Given the description of an element on the screen output the (x, y) to click on. 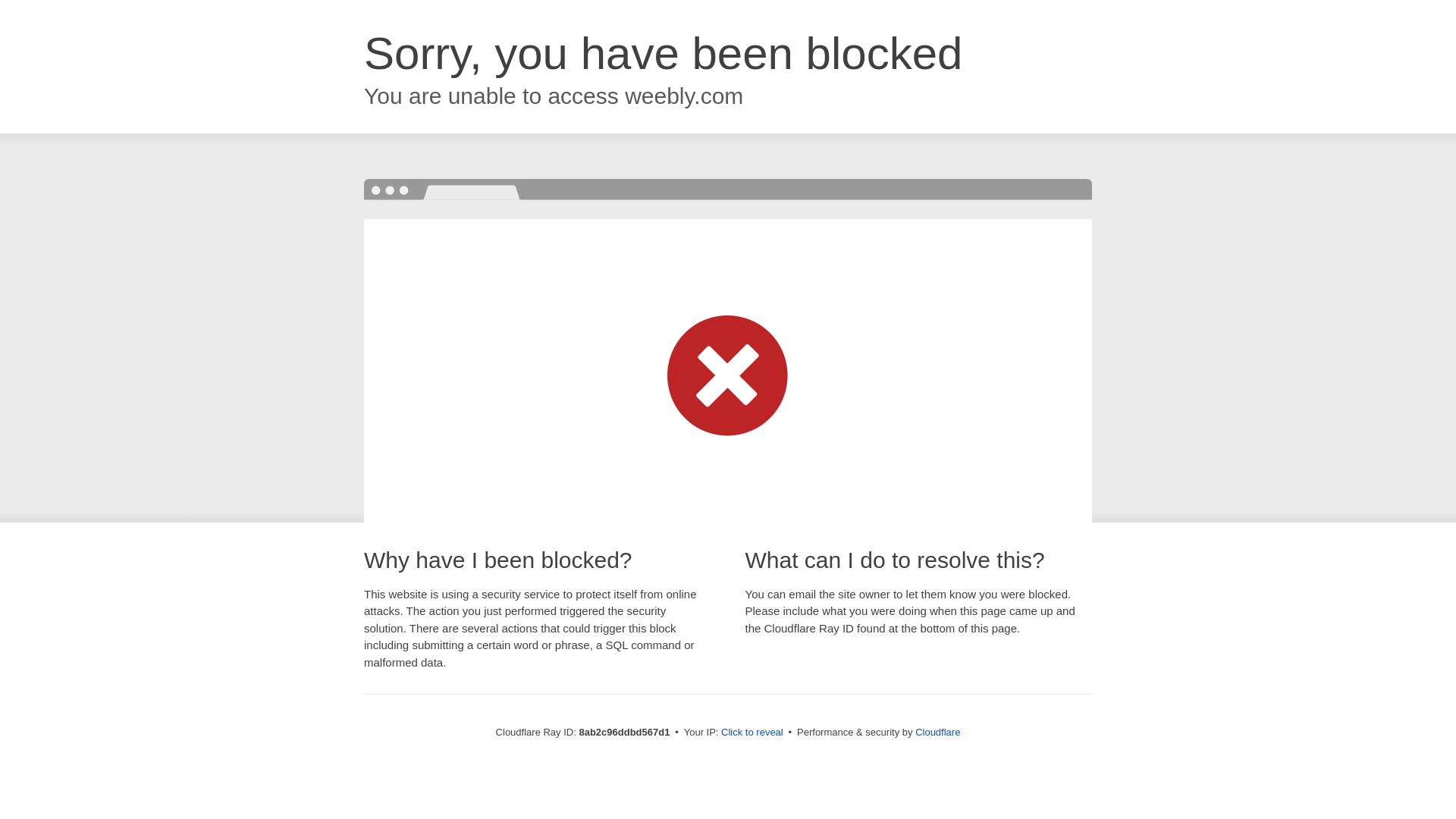
Click to reveal (751, 732)
Cloudflare (937, 731)
